Given the description of an element on the screen output the (x, y) to click on. 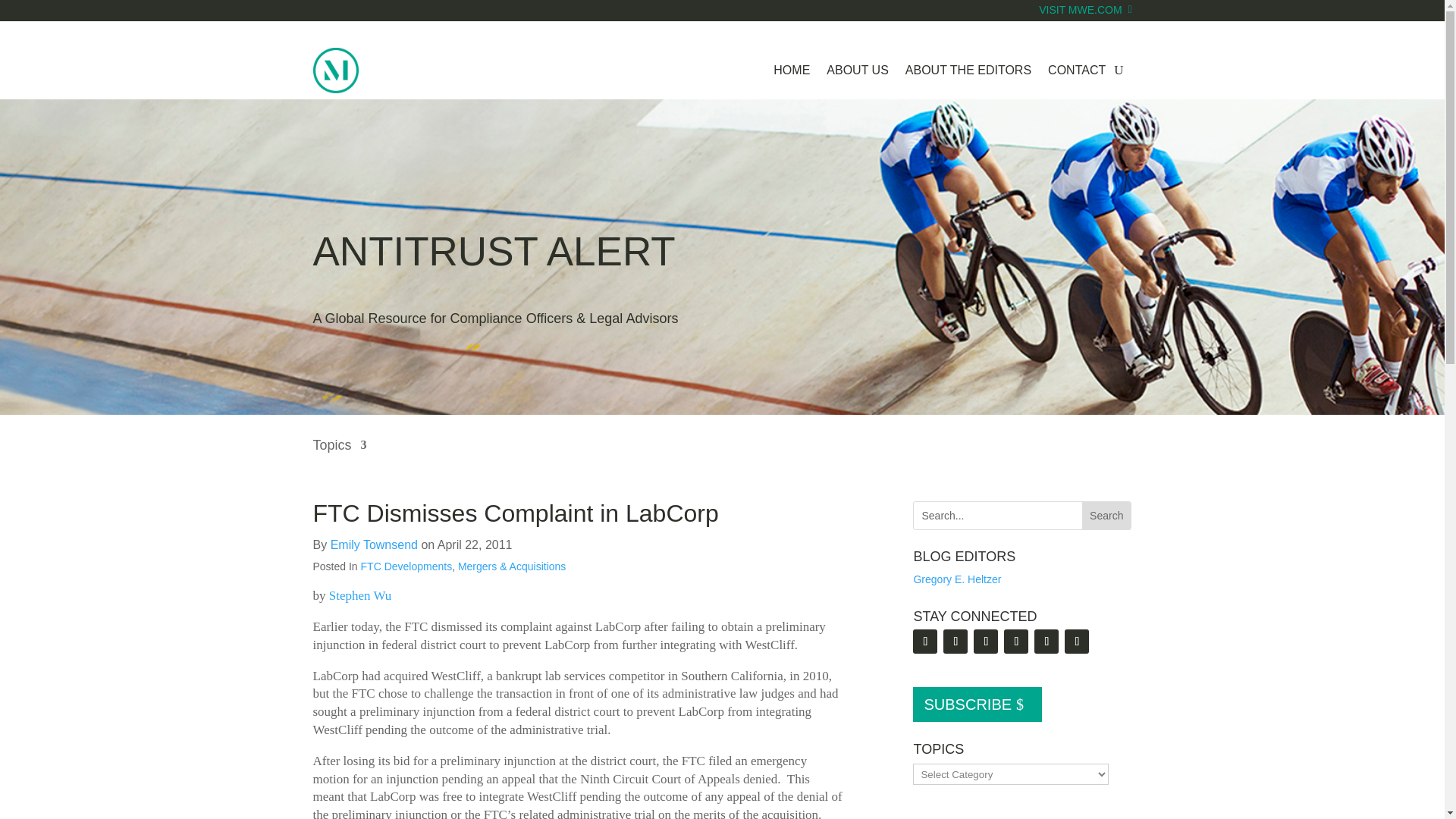
VISIT MWE.COM   (1085, 20)
Follow on RSS (924, 641)
ABOUT US (857, 70)
Search (1106, 515)
Follow on Facebook (1045, 641)
Follow on XING (1076, 641)
Follow on Youtube (1015, 641)
CONTACT (1076, 70)
Posts by Emily Townsend (373, 544)
ABOUT THE EDITORS (967, 70)
Topics (339, 455)
Follow on X (985, 641)
Follow on LinkedIn (955, 641)
Search (1106, 515)
HOME (791, 70)
